Given the description of an element on the screen output the (x, y) to click on. 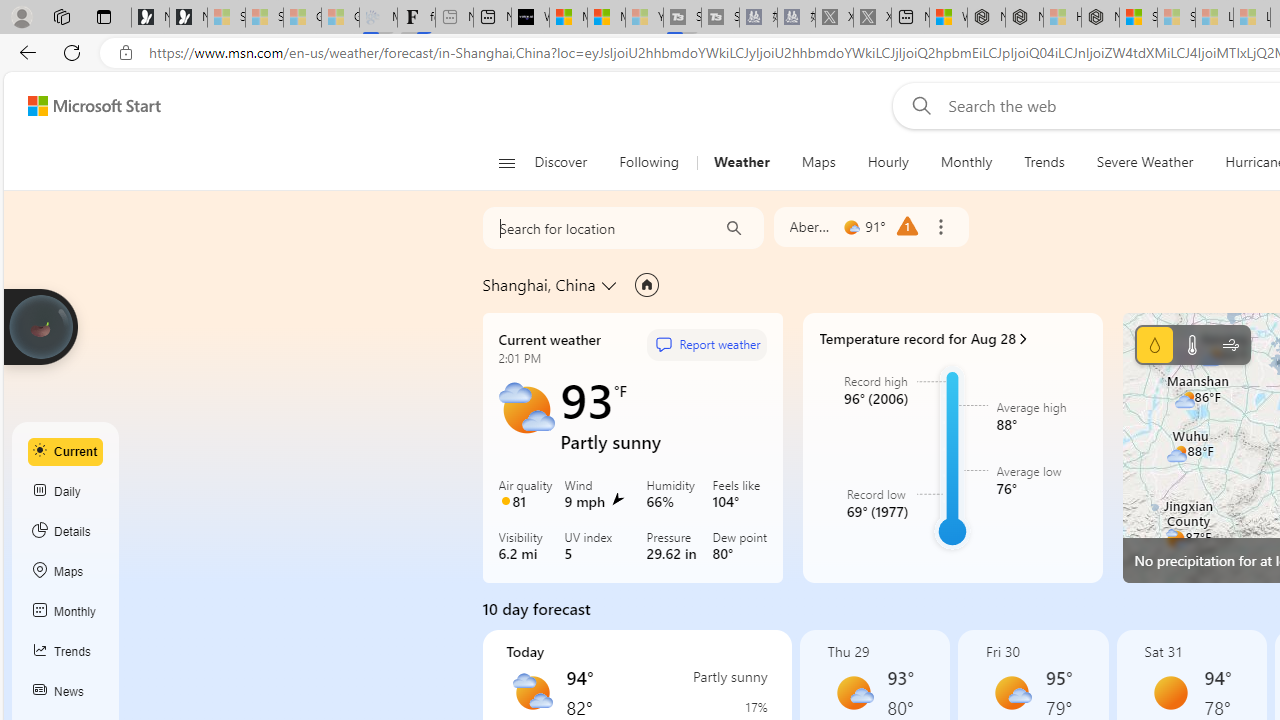
Pressure 29.62 in (675, 548)
Aberdeen (811, 226)
Set as primary location (646, 284)
Hourly (888, 162)
Nordace - Nordace Siena Is Not An Ordinary Backpack (1099, 17)
Trends (1044, 162)
Severe Weather (1144, 162)
